Given the description of an element on the screen output the (x, y) to click on. 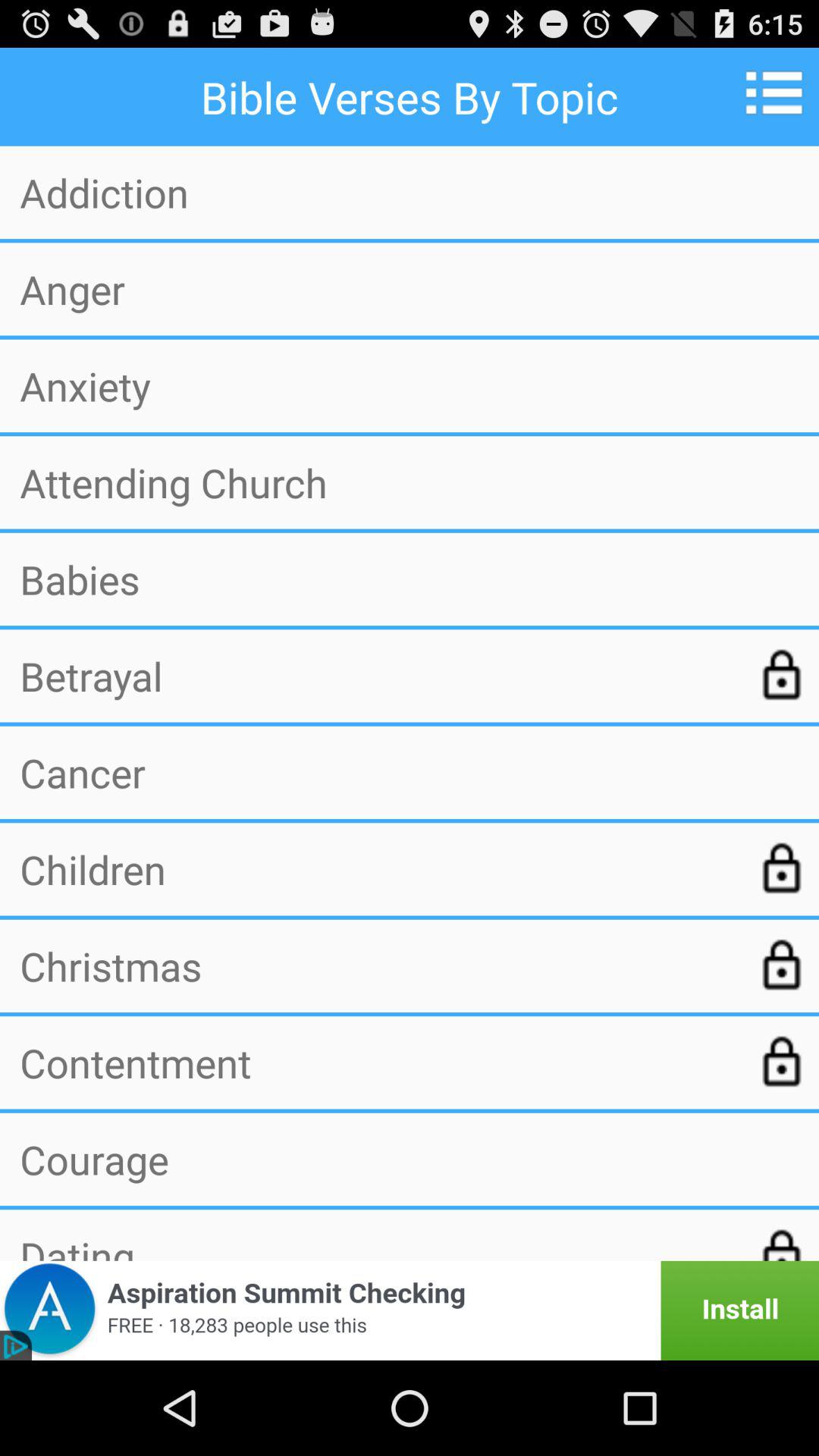
turn off the app above the babies item (409, 482)
